Given the description of an element on the screen output the (x, y) to click on. 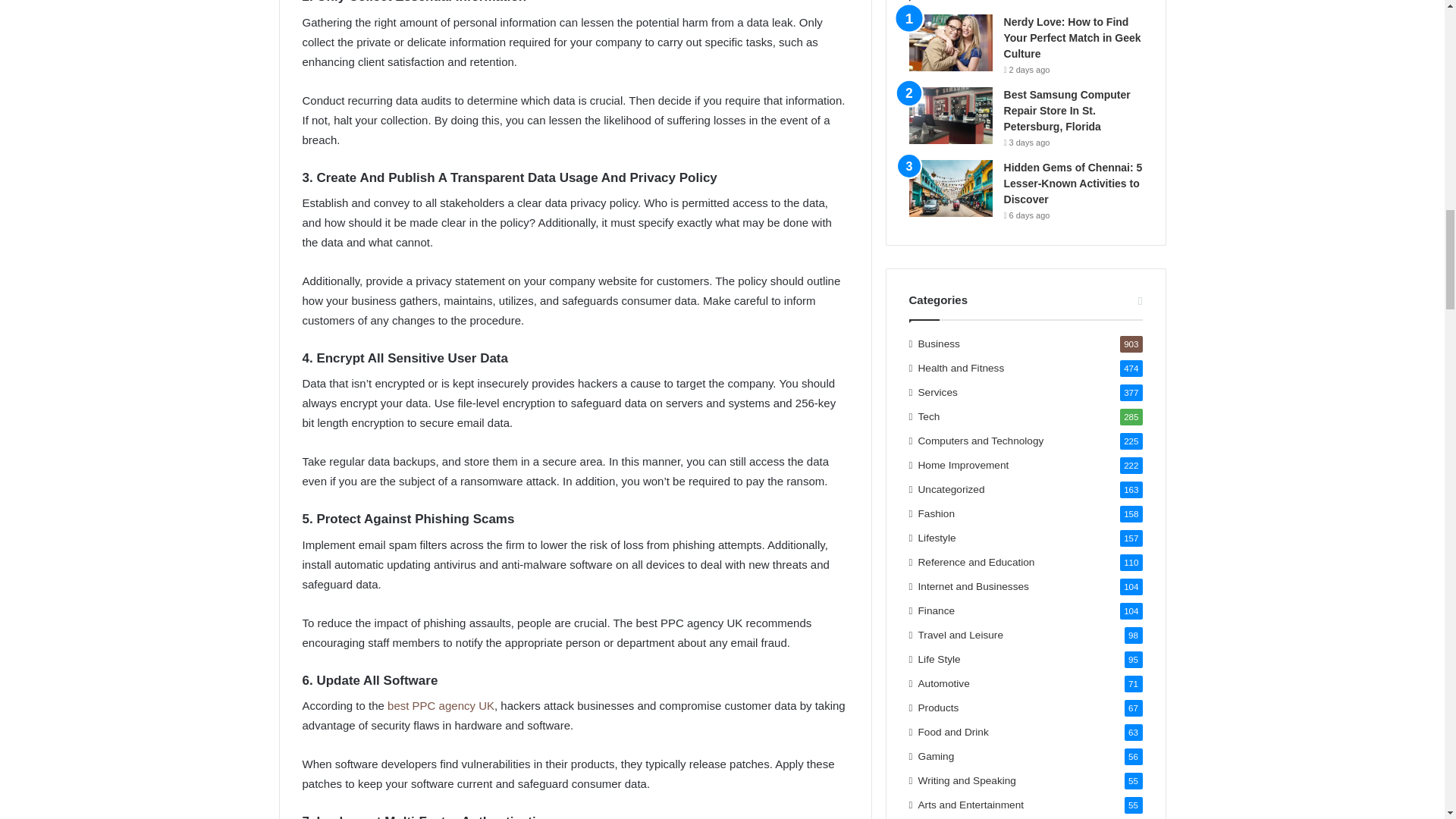
best PPC agency UK (441, 705)
